Given the description of an element on the screen output the (x, y) to click on. 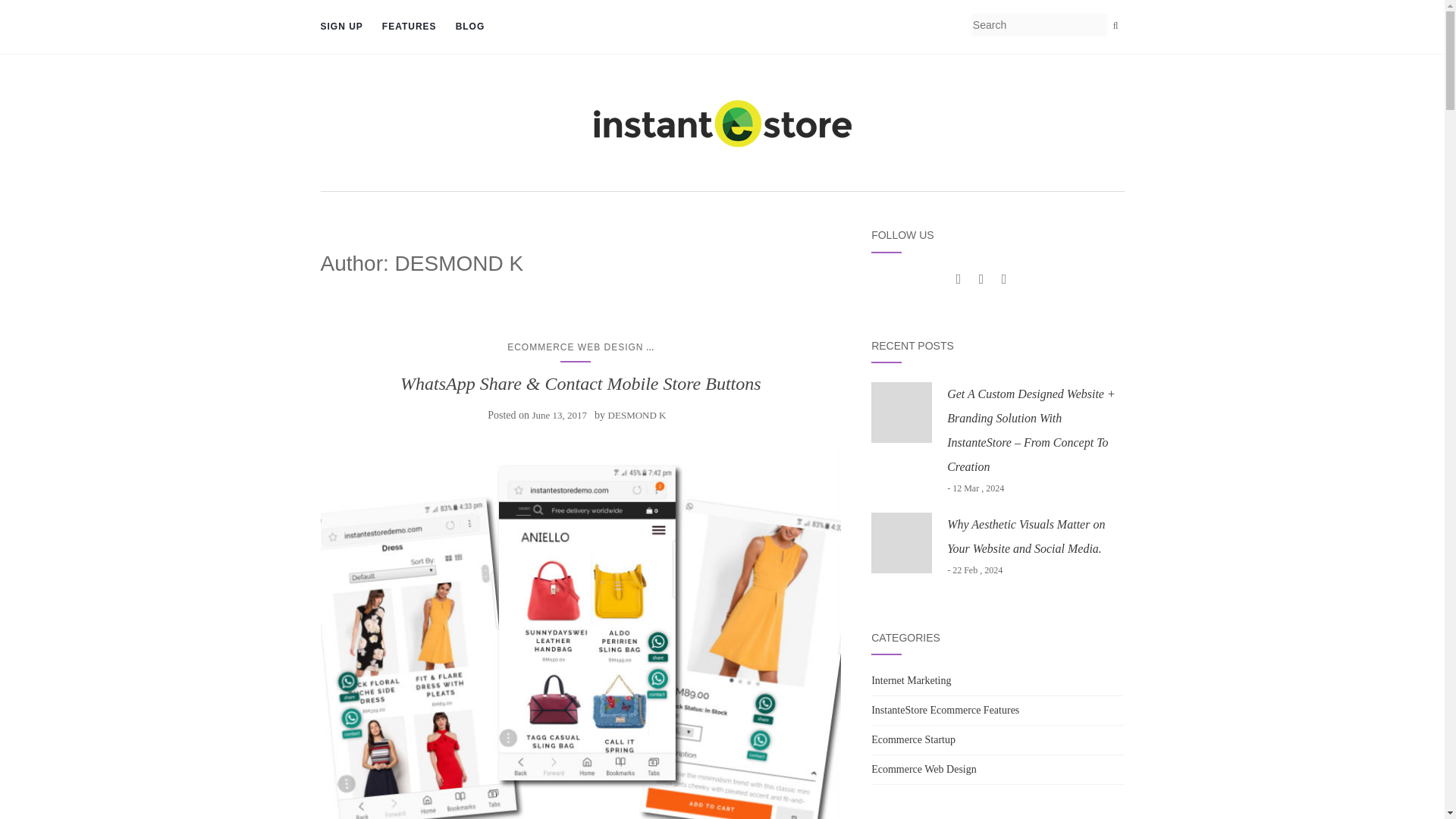
ECOMMERCE WEB DESIGN (574, 347)
FEATURES (408, 27)
Features (408, 27)
DESMOND K (637, 414)
June 13, 2017 (558, 414)
